Given the description of an element on the screen output the (x, y) to click on. 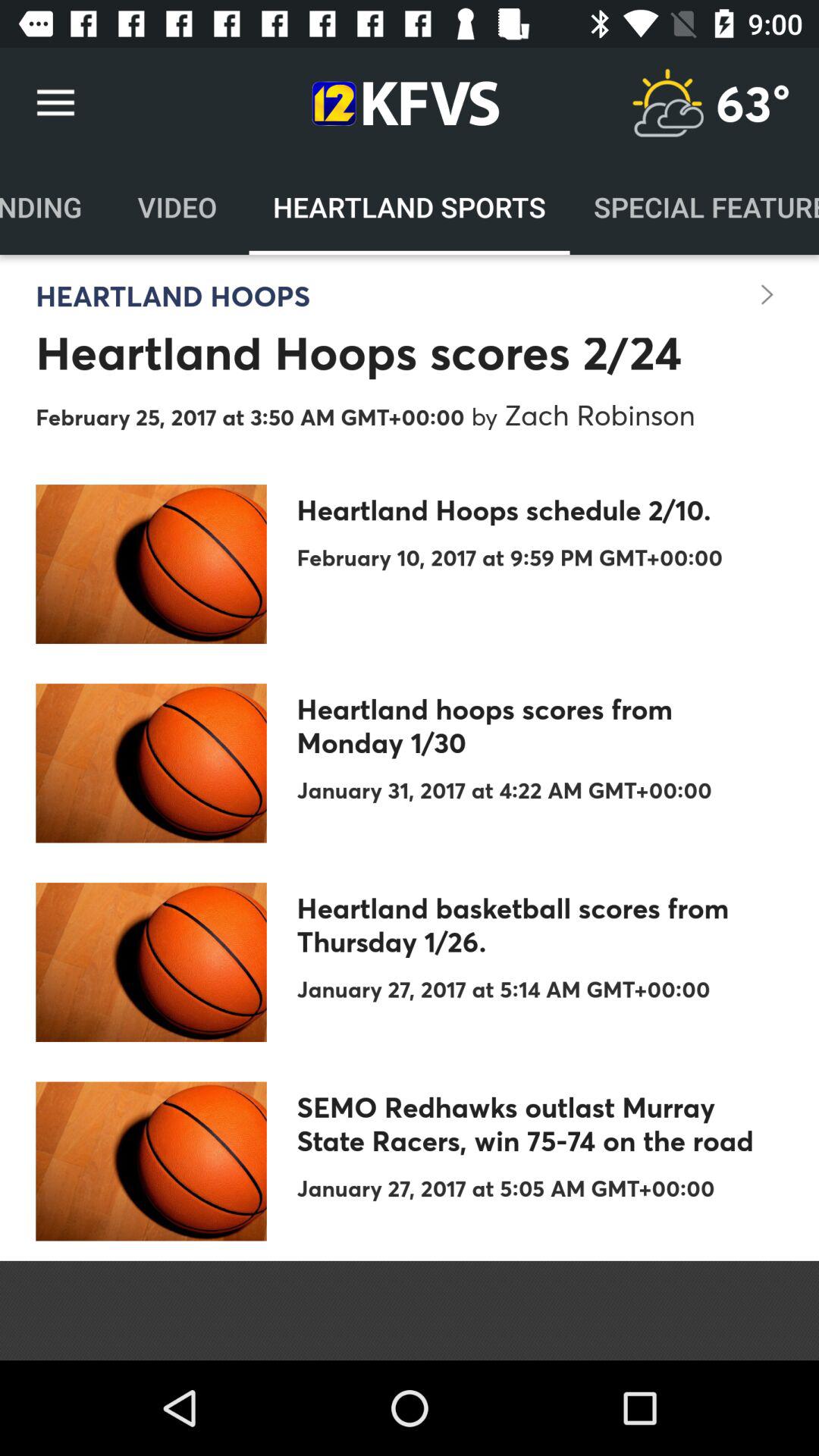
weather icon (667, 103)
